Given the description of an element on the screen output the (x, y) to click on. 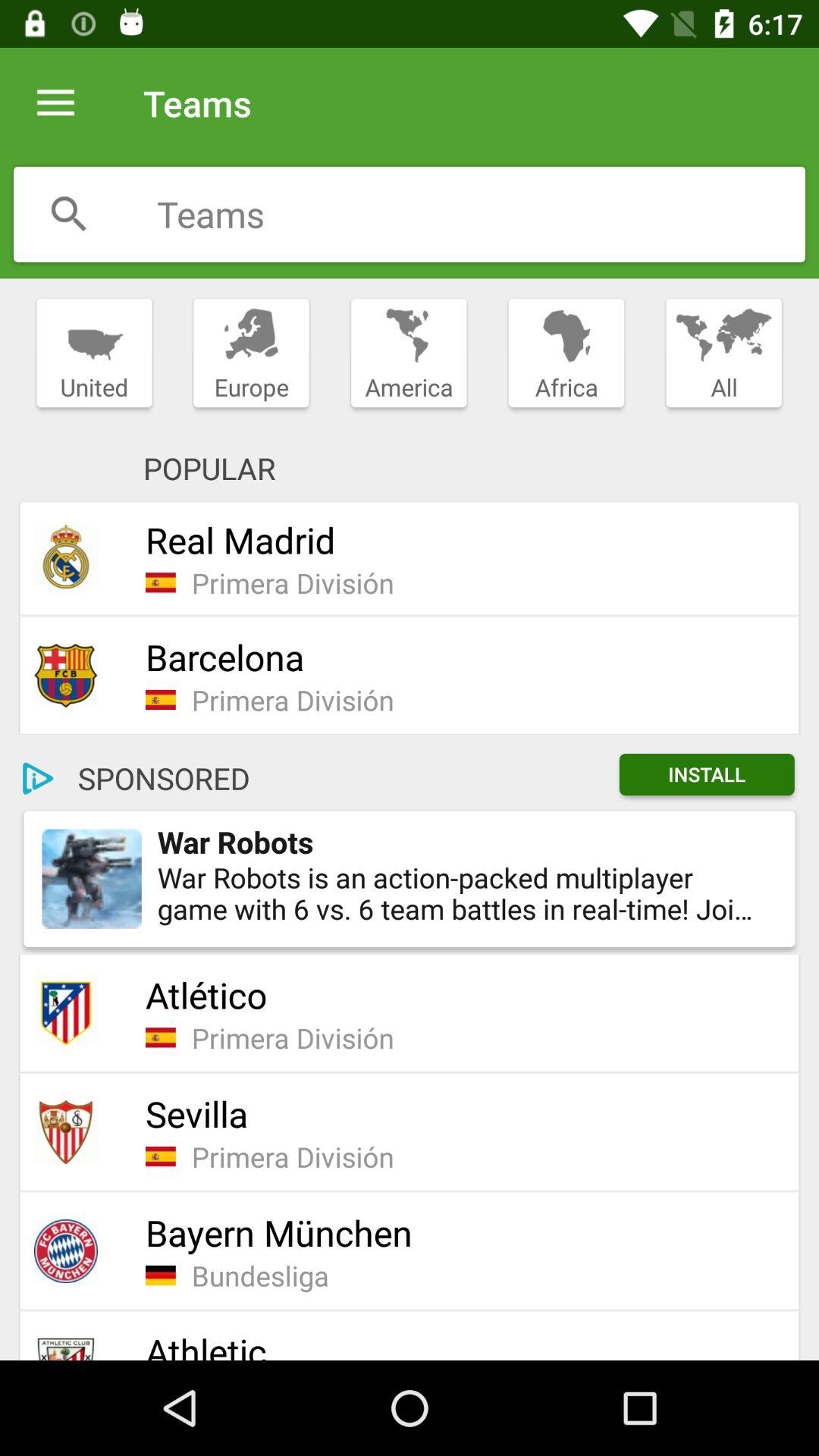
click icon next to africa item (723, 353)
